Given the description of an element on the screen output the (x, y) to click on. 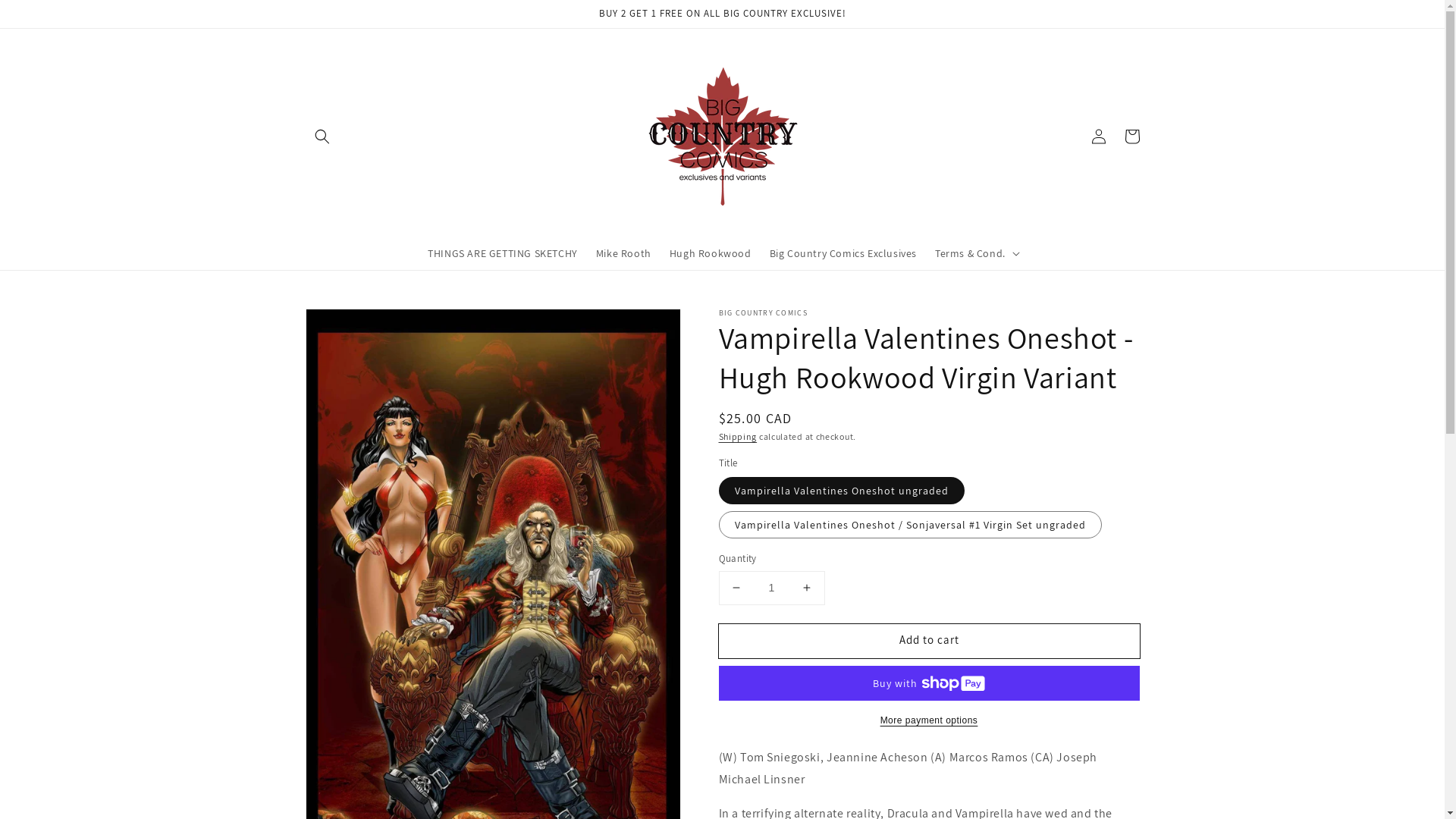
Log in Element type: text (1097, 136)
Add to cart Element type: text (928, 641)
Cart Element type: text (1131, 136)
Shipping Element type: text (737, 436)
Mike Rooth Element type: text (623, 253)
THINGS ARE GETTING SKETCHY Element type: text (502, 253)
Hugh Rookwood Element type: text (710, 253)
More payment options Element type: text (928, 720)
Big Country Comics Exclusives Element type: text (842, 253)
Skip to product information Element type: text (349, 324)
